Given the description of an element on the screen output the (x, y) to click on. 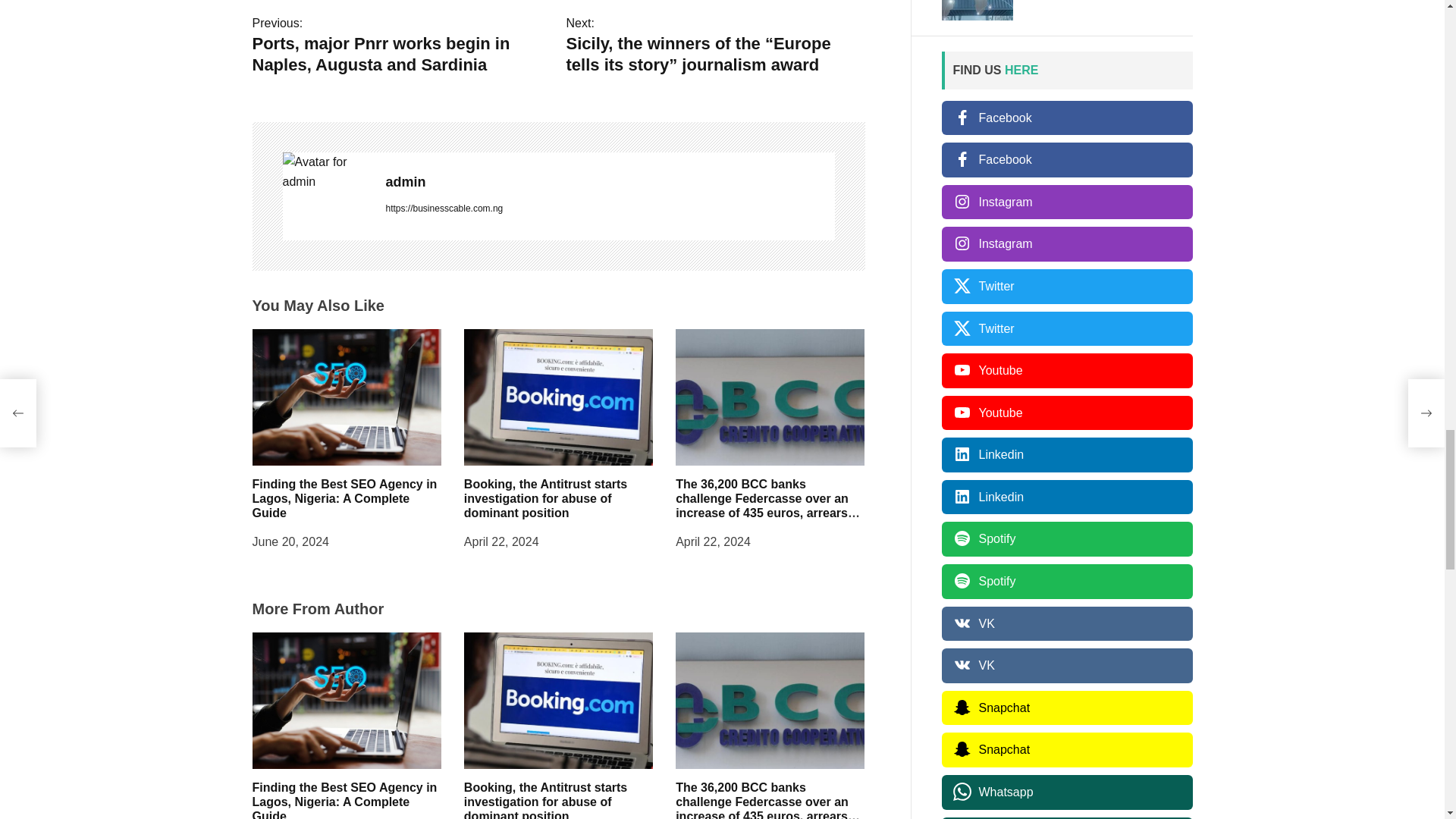
yes (311, 765)
Submit (829, 806)
